Given the description of an element on the screen output the (x, y) to click on. 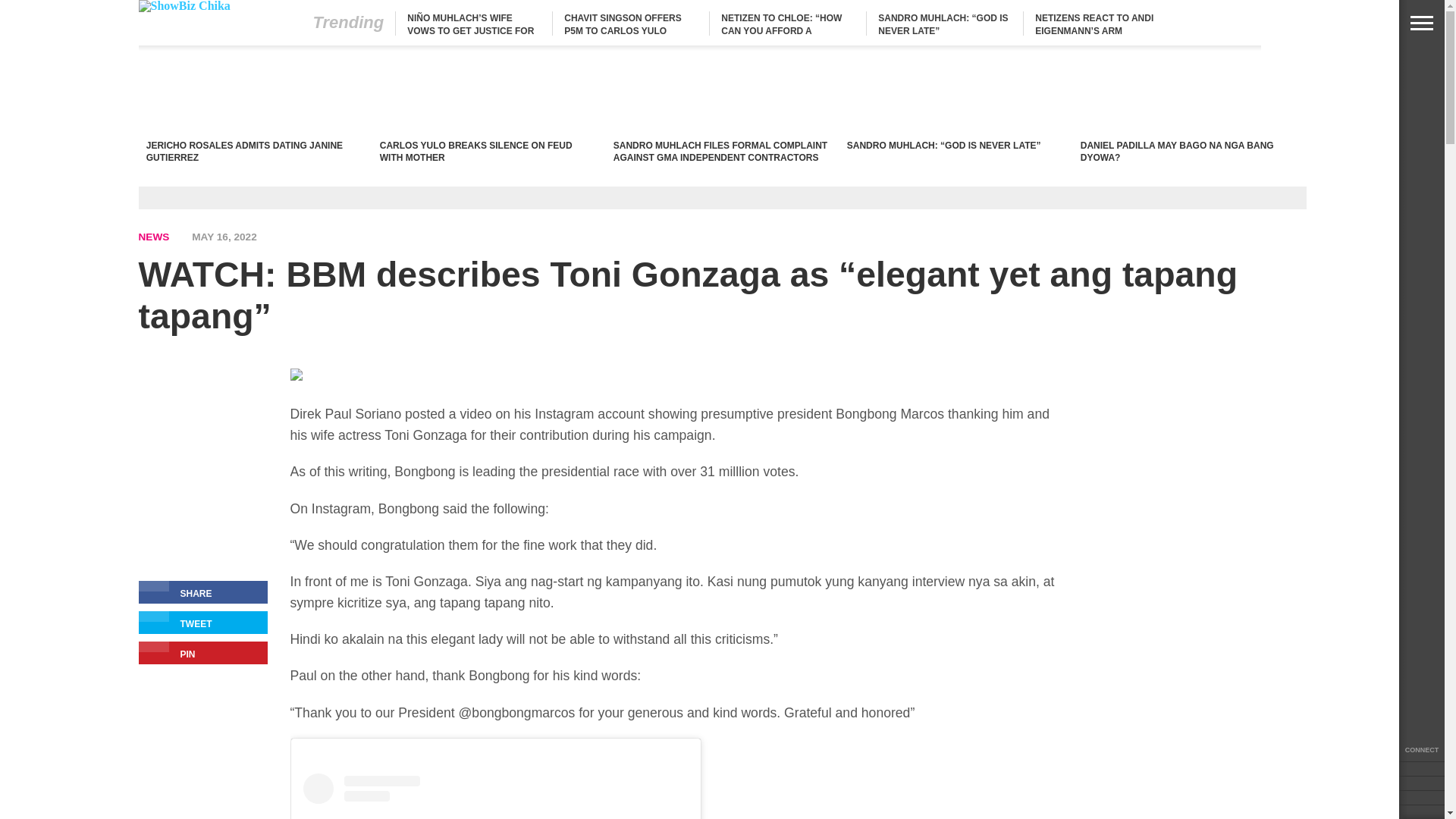
CHAVIT SINGSON OFFERS P5M TO CARLOS YULO UNDER ONE CONDITION (622, 31)
View this post on Instagram (495, 796)
NEWS (153, 236)
